Given the description of an element on the screen output the (x, y) to click on. 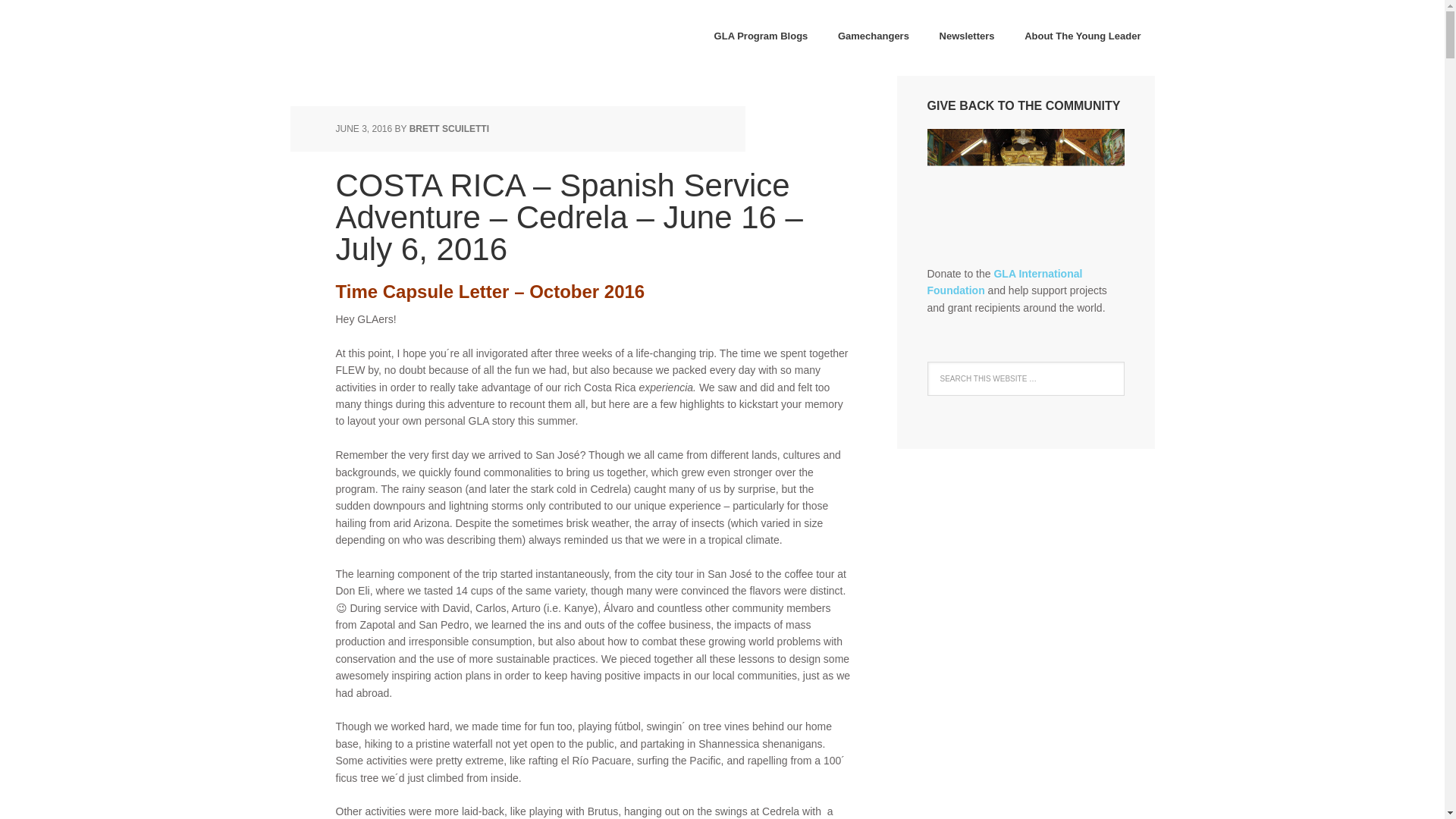
The Young Leader (387, 38)
Gamechangers (873, 37)
Newsletters (967, 37)
BRETT SCUILETTI (449, 128)
GLA Program Blogs (761, 37)
About The Young Leader (1082, 37)
